Given the description of an element on the screen output the (x, y) to click on. 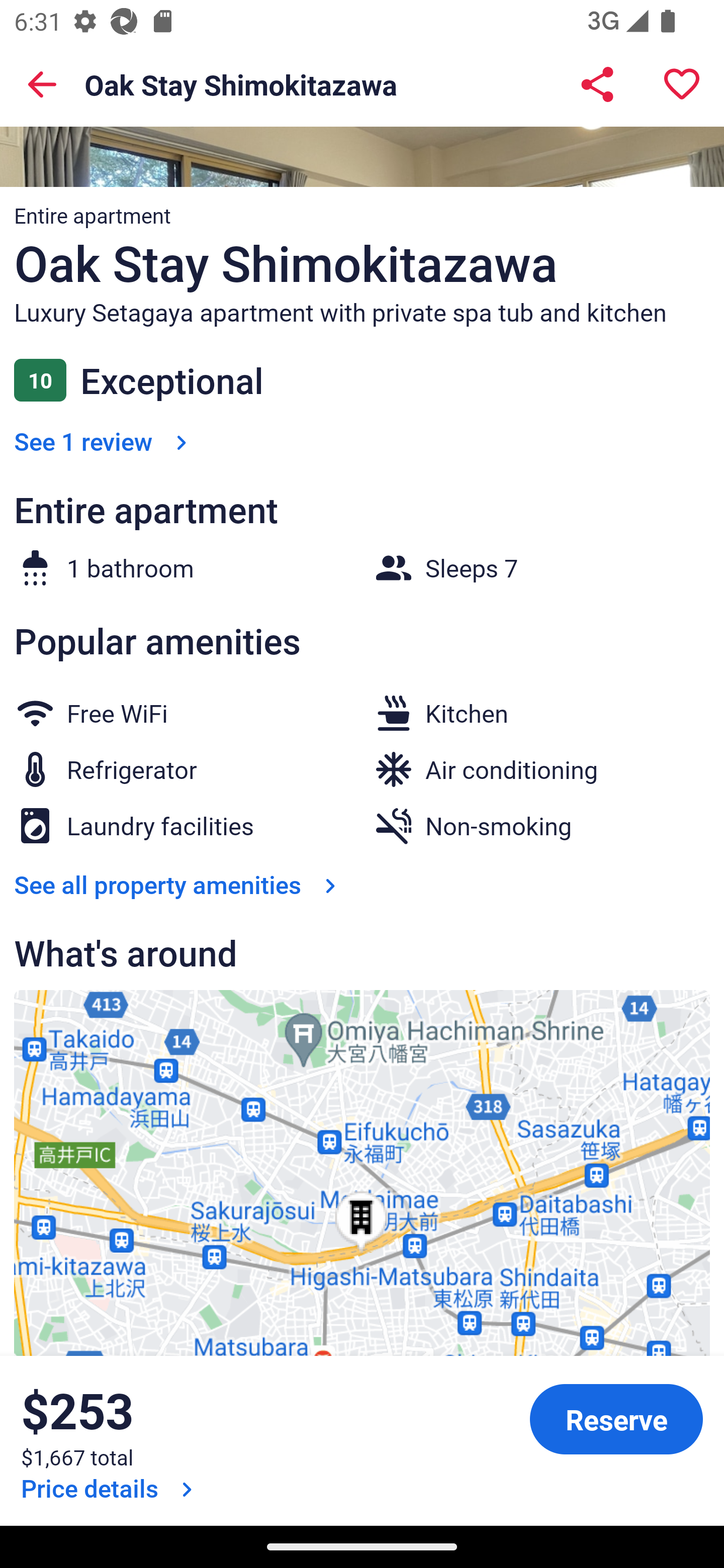
Back (42, 84)
Save property to a trip (681, 84)
Share Oak Stay Shimokitazawa  (597, 84)
See 1 review See 1 review Link (103, 440)
See all property amenities (178, 884)
Reserve Luxury Apartment Reserve (616, 1418)
